Given the description of an element on the screen output the (x, y) to click on. 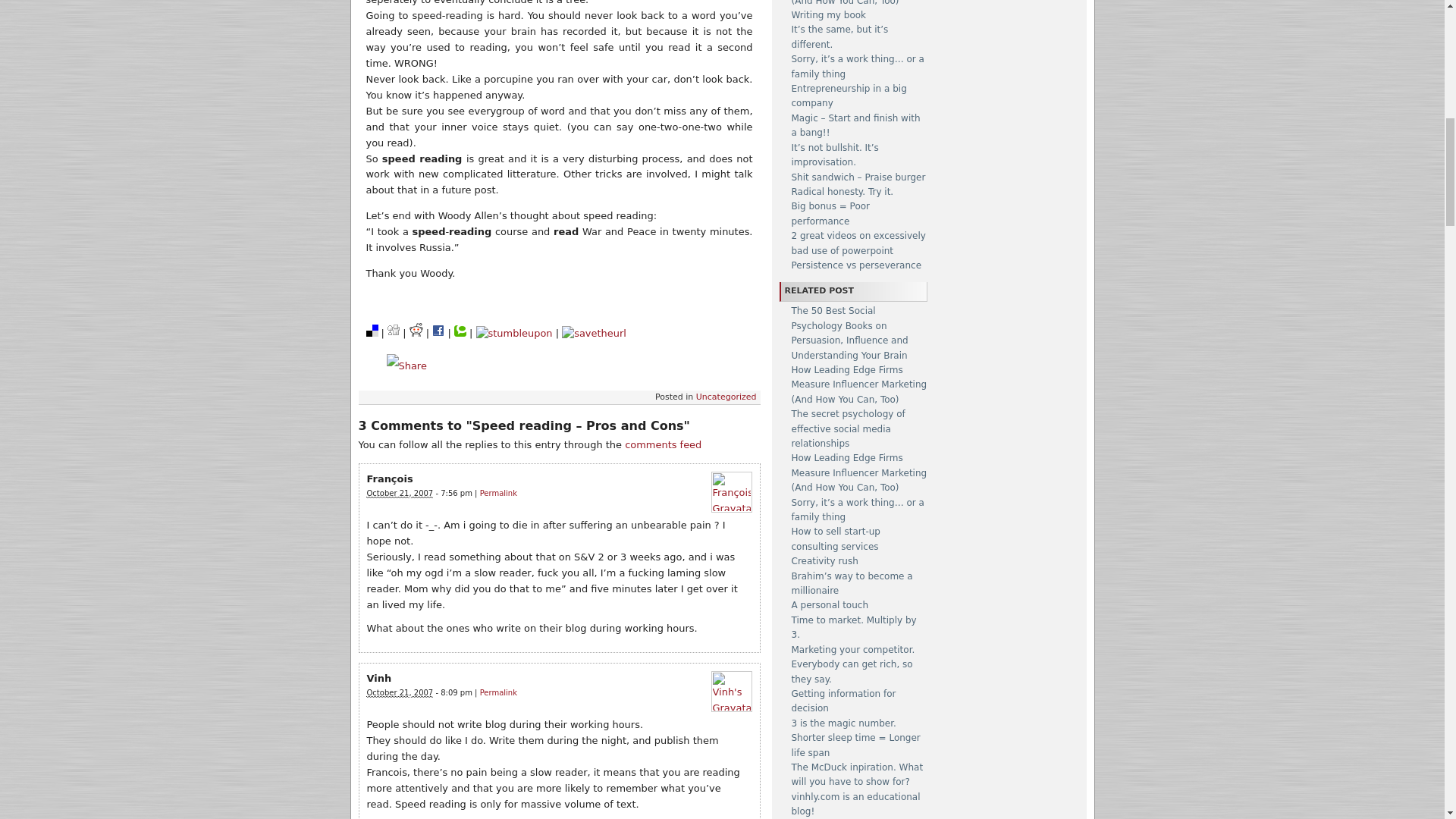
Permalink (498, 492)
comments feed (662, 444)
Uncategorized (726, 397)
Permalink (498, 692)
